Given the description of an element on the screen output the (x, y) to click on. 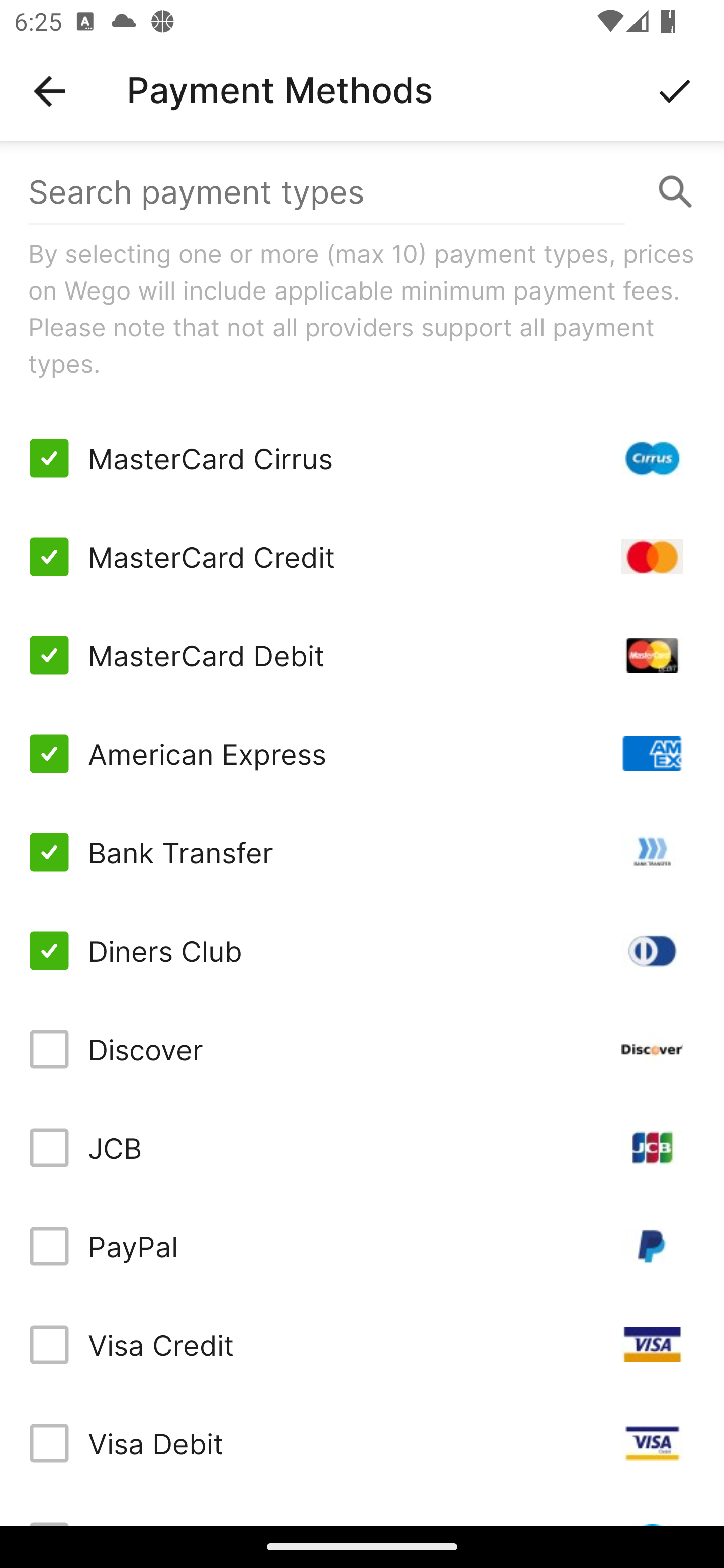
Search payment types  (361, 191)
MasterCard Cirrus (362, 458)
MasterCard Credit (362, 557)
MasterCard Debit (362, 655)
American Express (362, 753)
Bank Transfer (362, 851)
Diners Club (362, 950)
Discover (362, 1049)
JCB (362, 1147)
PayPal (362, 1245)
Visa Credit (362, 1344)
Visa Debit (362, 1442)
